Given the description of an element on the screen output the (x, y) to click on. 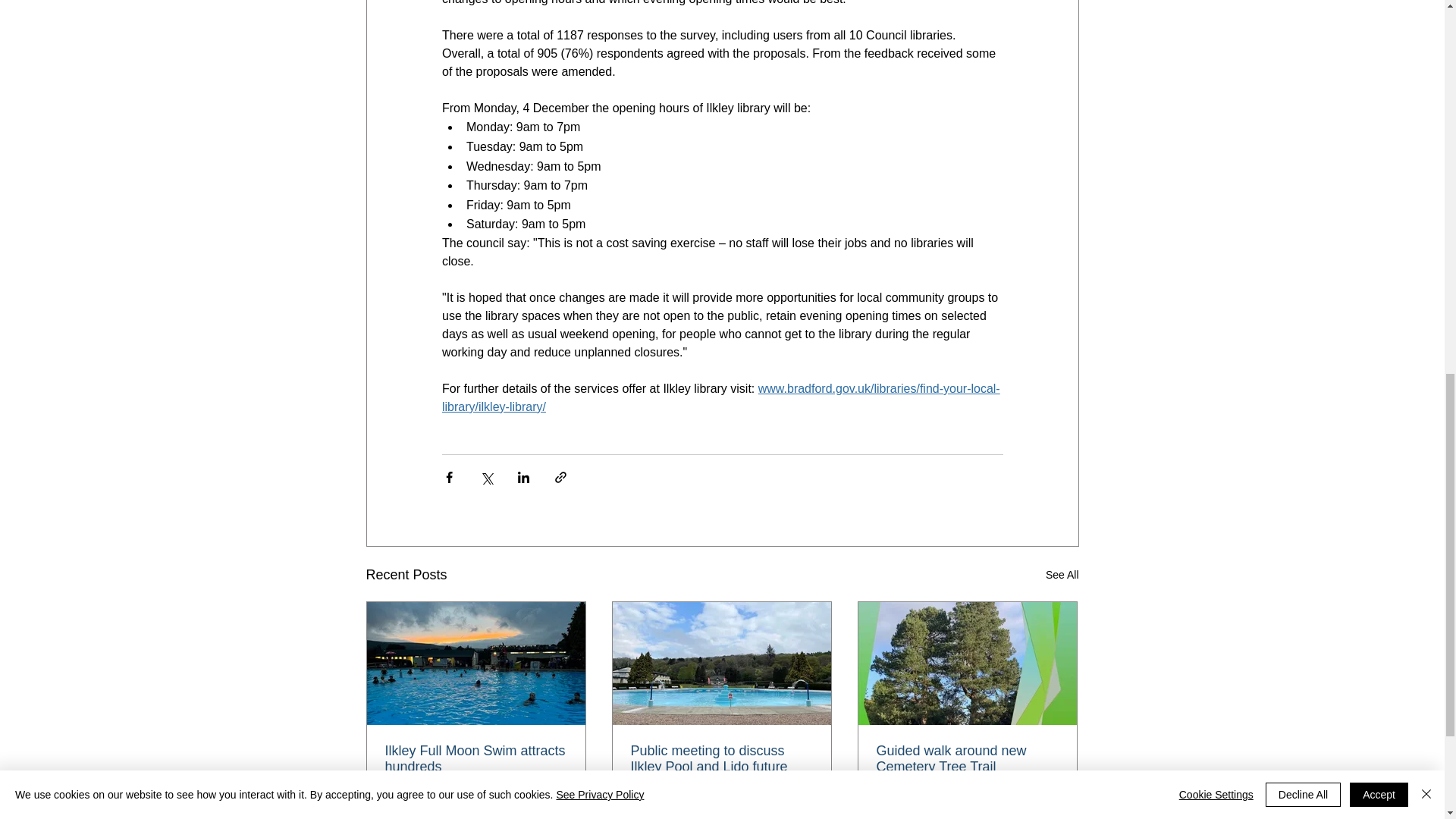
Ilkley Full Moon Swim attracts hundreds (476, 758)
See All (1061, 575)
Guided walk around new Cemetery Tree Trail (967, 758)
Public meeting to discuss Ilkley Pool and Lido future (721, 758)
